Given the description of an element on the screen output the (x, y) to click on. 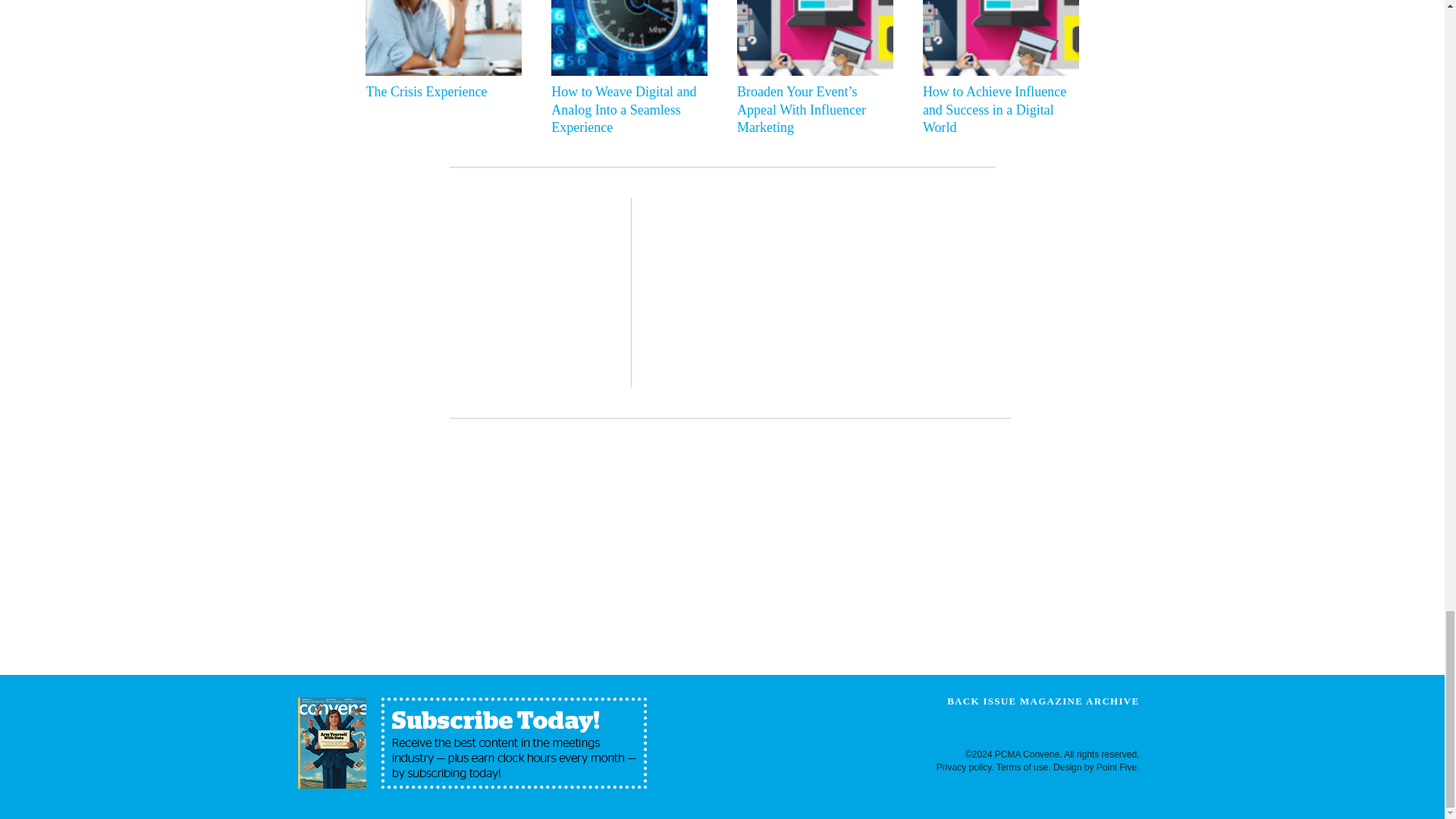
How to Achieve Influence and Success in a Digital World (997, 109)
The Crisis Experience (439, 91)
How to Weave Digital and Analog Into a Seamless Experience (625, 109)
CONV-house-sub-ad (471, 743)
